Given the description of an element on the screen output the (x, y) to click on. 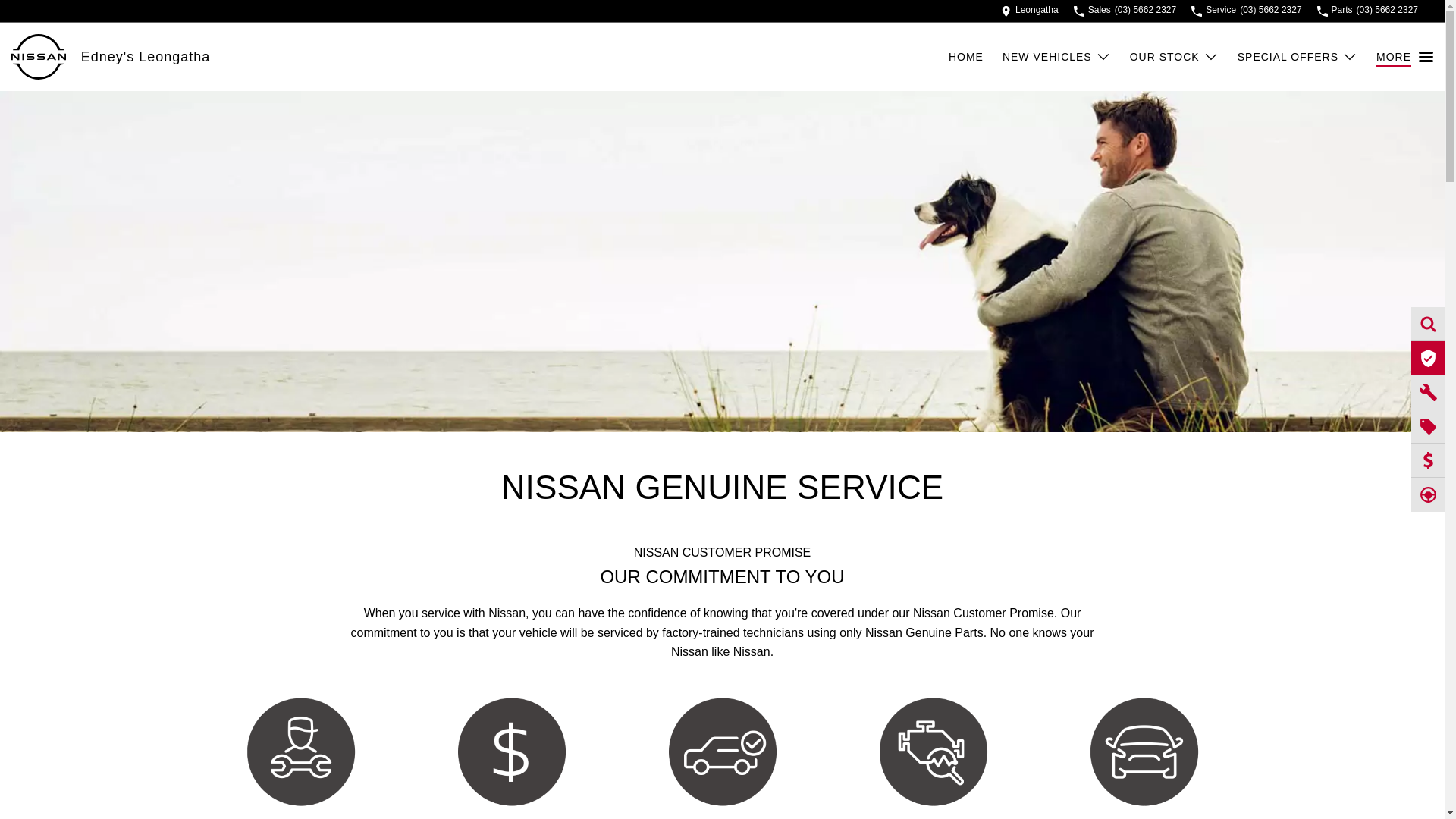
MORE Element type: text (1404, 56)
OUR STOCK Element type: text (1173, 56)
NEW VEHICLES Element type: text (1056, 56)
Sales
(03) 5662 2327 Element type: text (1124, 10)
Edney's Leongatha Element type: text (145, 56)
Leongatha Element type: text (1029, 10)
Service
(03) 5662 2327 Element type: text (1246, 10)
SPECIAL OFFERS Element type: text (1297, 56)
Parts
(03) 5662 2327 Element type: text (1367, 10)
HOME Element type: text (975, 56)
